Given the description of an element on the screen output the (x, y) to click on. 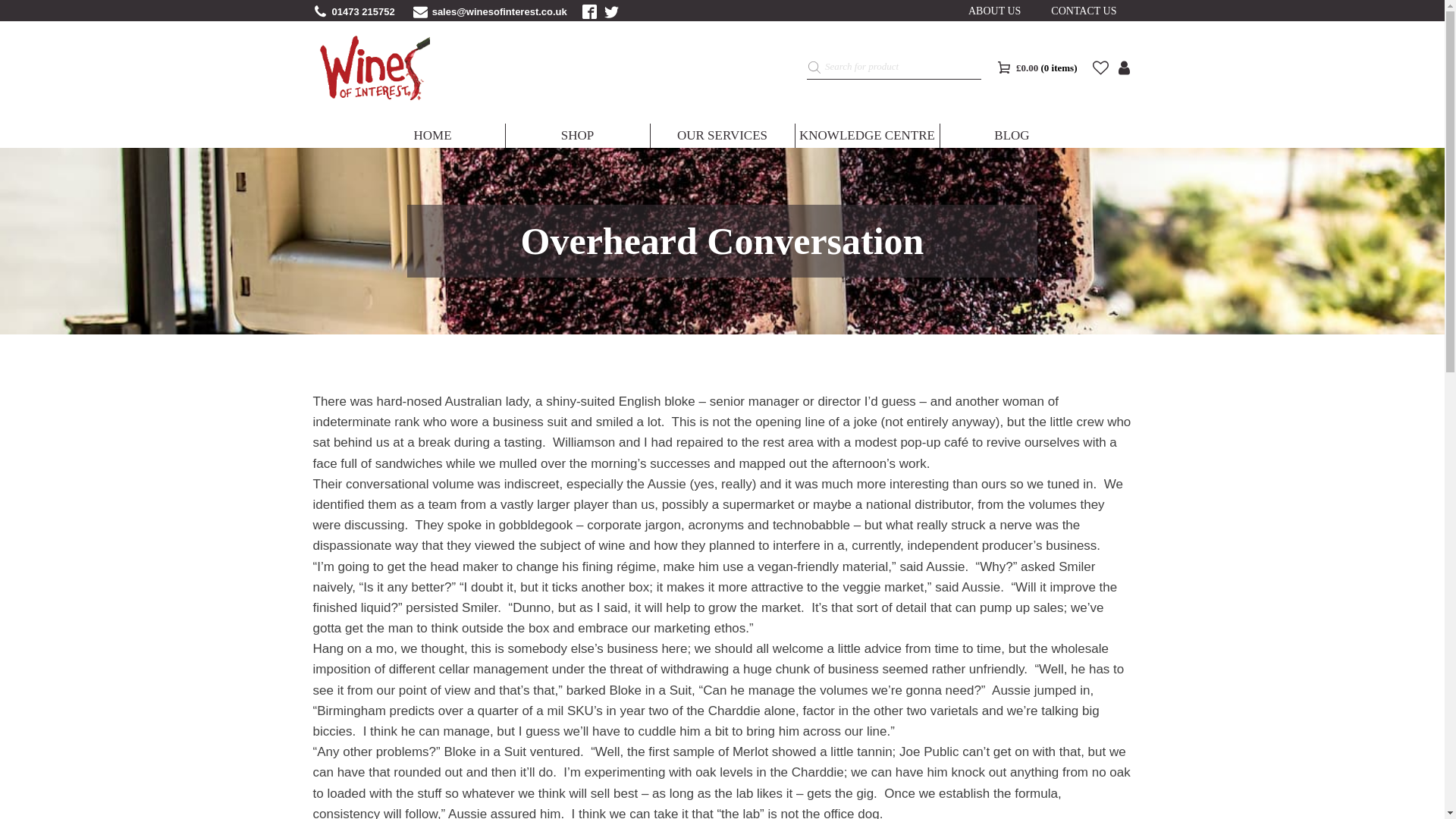
ABOUT US (994, 11)
My Account (1124, 67)
HOME (433, 135)
Wishlist (1100, 67)
KNOWLEDGE CENTRE (866, 135)
SHOP (577, 135)
01473 215752 (362, 11)
BLOG (1012, 135)
OUR SERVICES (722, 135)
CONTACT US (1083, 11)
